Given the description of an element on the screen output the (x, y) to click on. 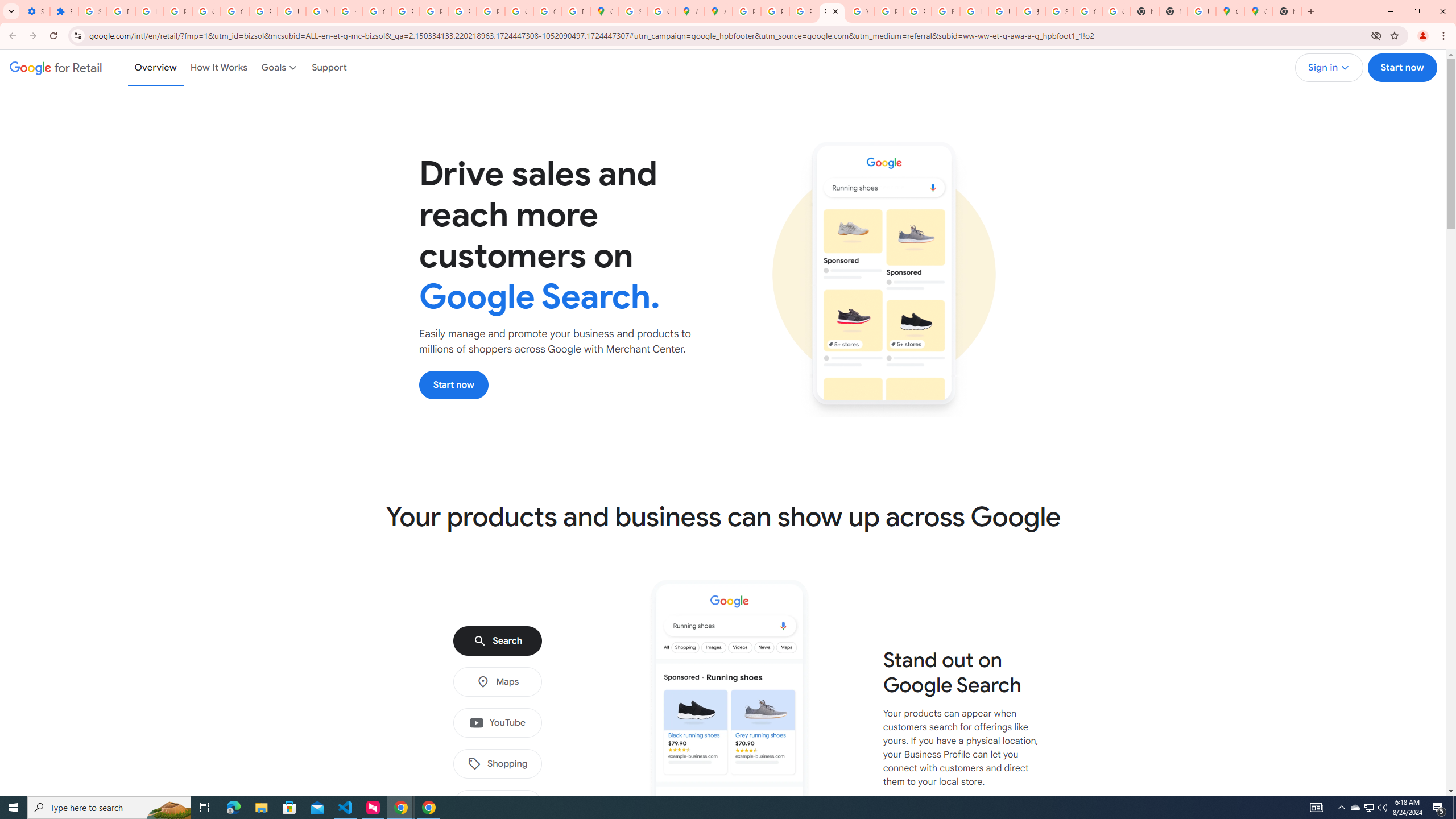
Sign in - Google Accounts (92, 11)
Goals (279, 67)
Sign in - Google Accounts (632, 11)
YouTube (320, 11)
